Given the description of an element on the screen output the (x, y) to click on. 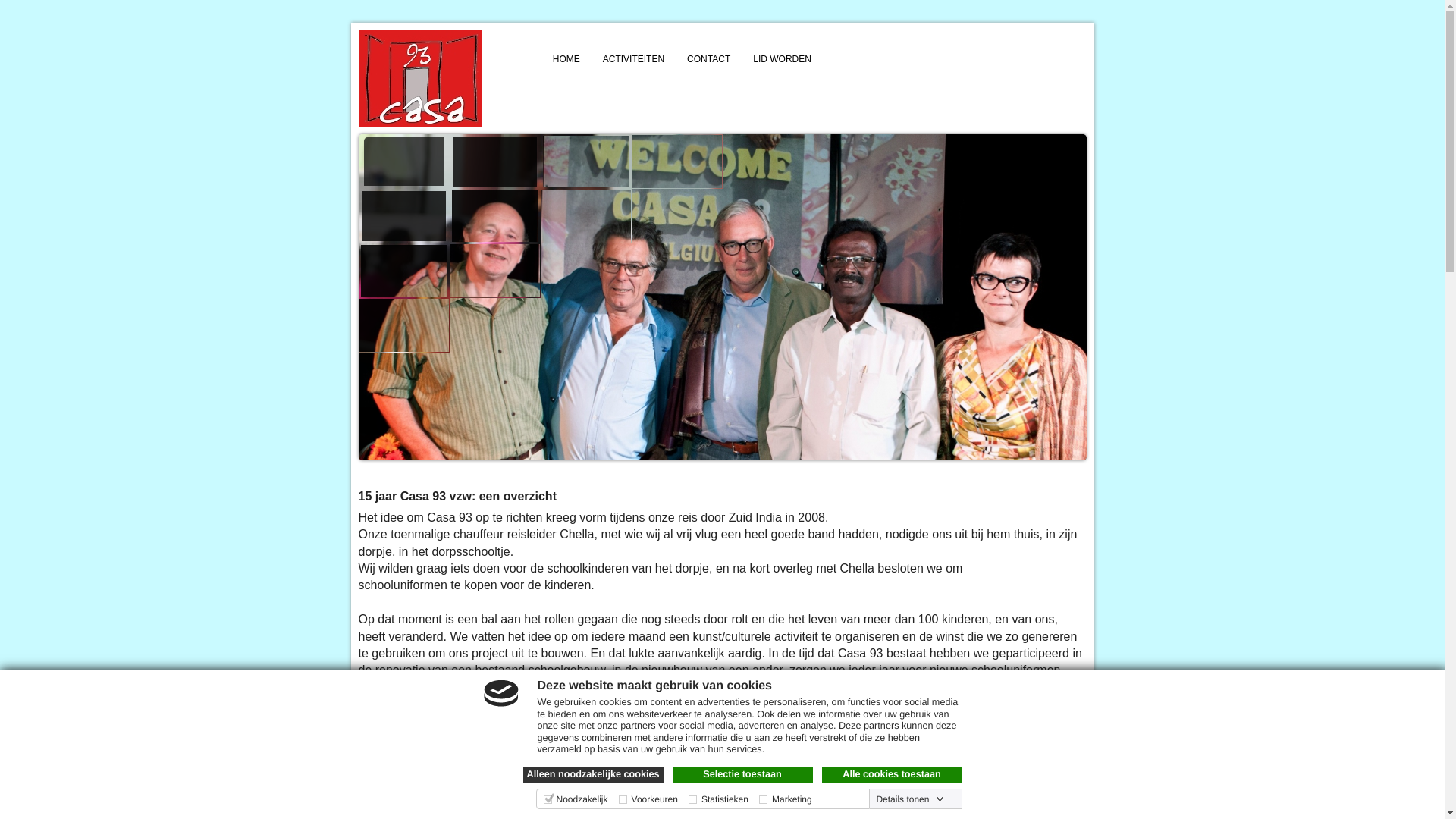
Alle cookies toestaan Element type: text (892, 774)
Alleen noodzakelijke cookies Element type: text (593, 774)
CONTACT Element type: text (708, 59)
ACTIVITEITEN Element type: text (633, 59)
Selectie toestaan Element type: text (741, 774)
HOME Element type: text (566, 59)
Details tonen Element type: text (909, 799)
LID WORDEN Element type: text (781, 59)
